Given the description of an element on the screen output the (x, y) to click on. 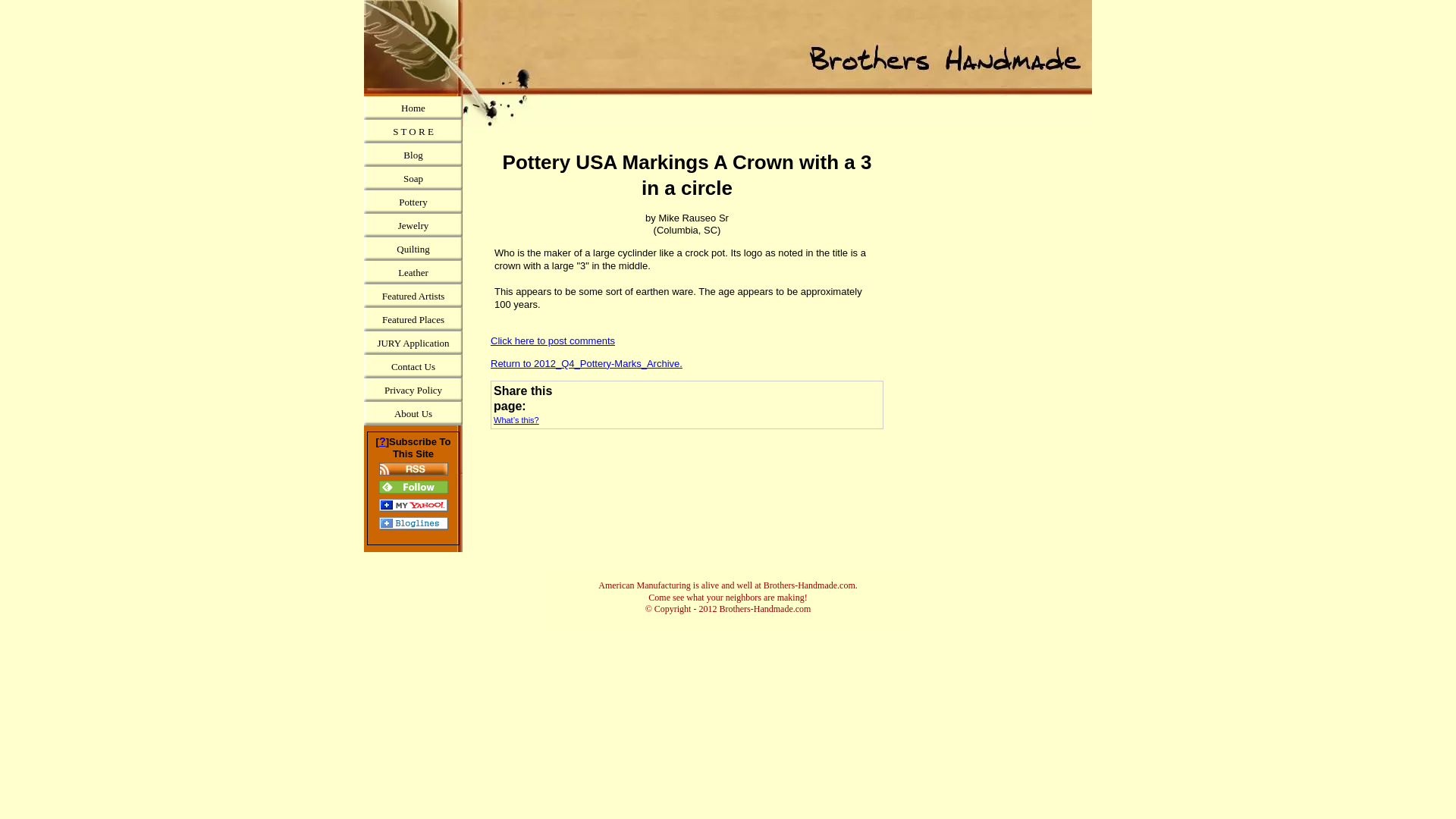
Featured Artists (413, 295)
Privacy Policy (413, 390)
About Us (413, 413)
S T O R E (413, 131)
Leather (413, 272)
Home (413, 107)
Contact Us (413, 366)
JURY Application (413, 342)
Featured Places (413, 319)
Jewelry (413, 225)
Click here to post comments (552, 340)
Blog (413, 155)
Pottery (413, 201)
Soap (413, 178)
Quilting (413, 249)
